Given the description of an element on the screen output the (x, y) to click on. 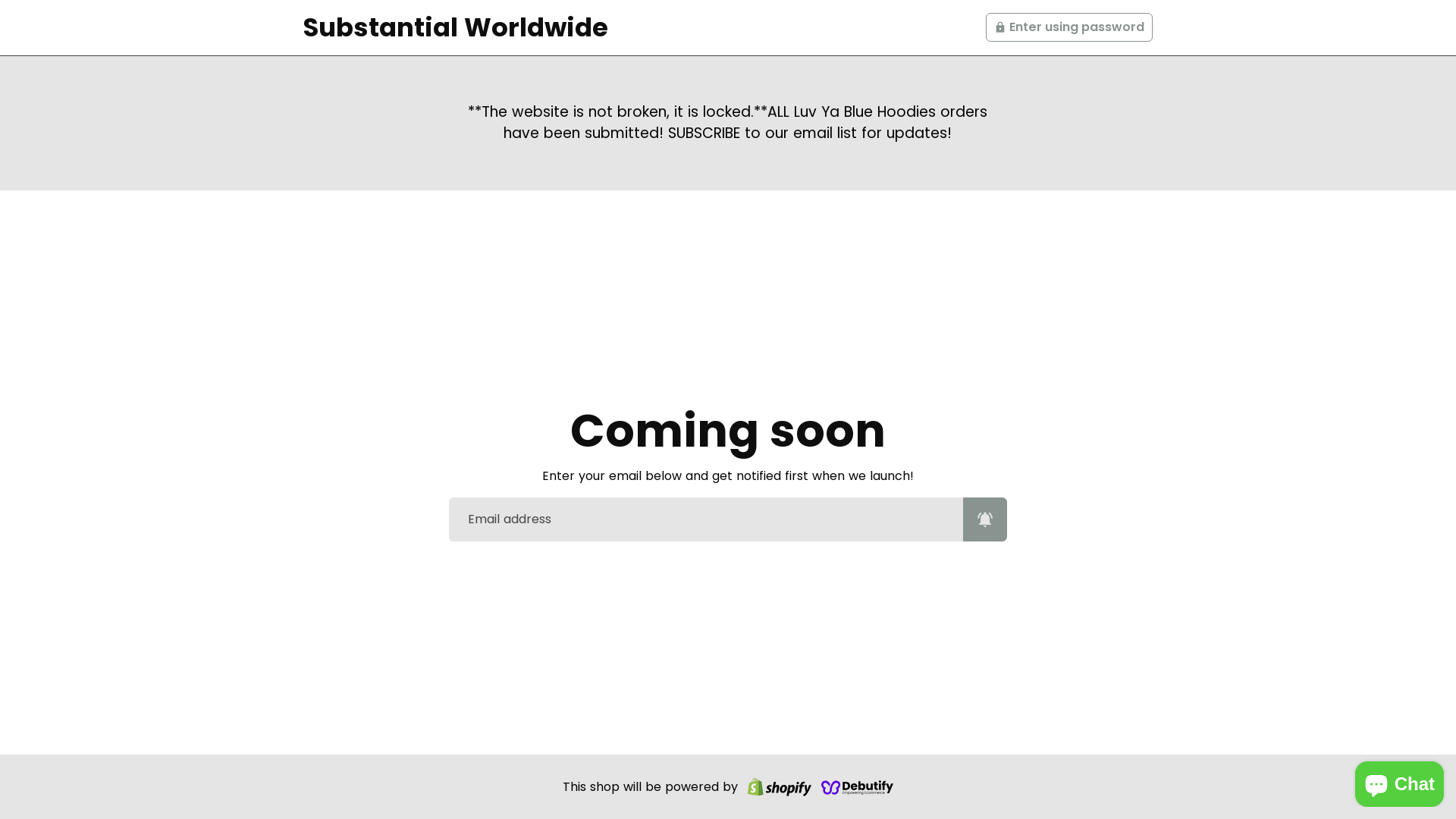
lock Enter using password Element type: text (1068, 26)
Create your own online store with Shopify Element type: hover (779, 786)
Shopify online store chat Element type: hover (1399, 780)
notifications_active Element type: text (985, 519)
The World's #1 Free Shopify Theme Element type: hover (857, 786)
